Given the description of an element on the screen output the (x, y) to click on. 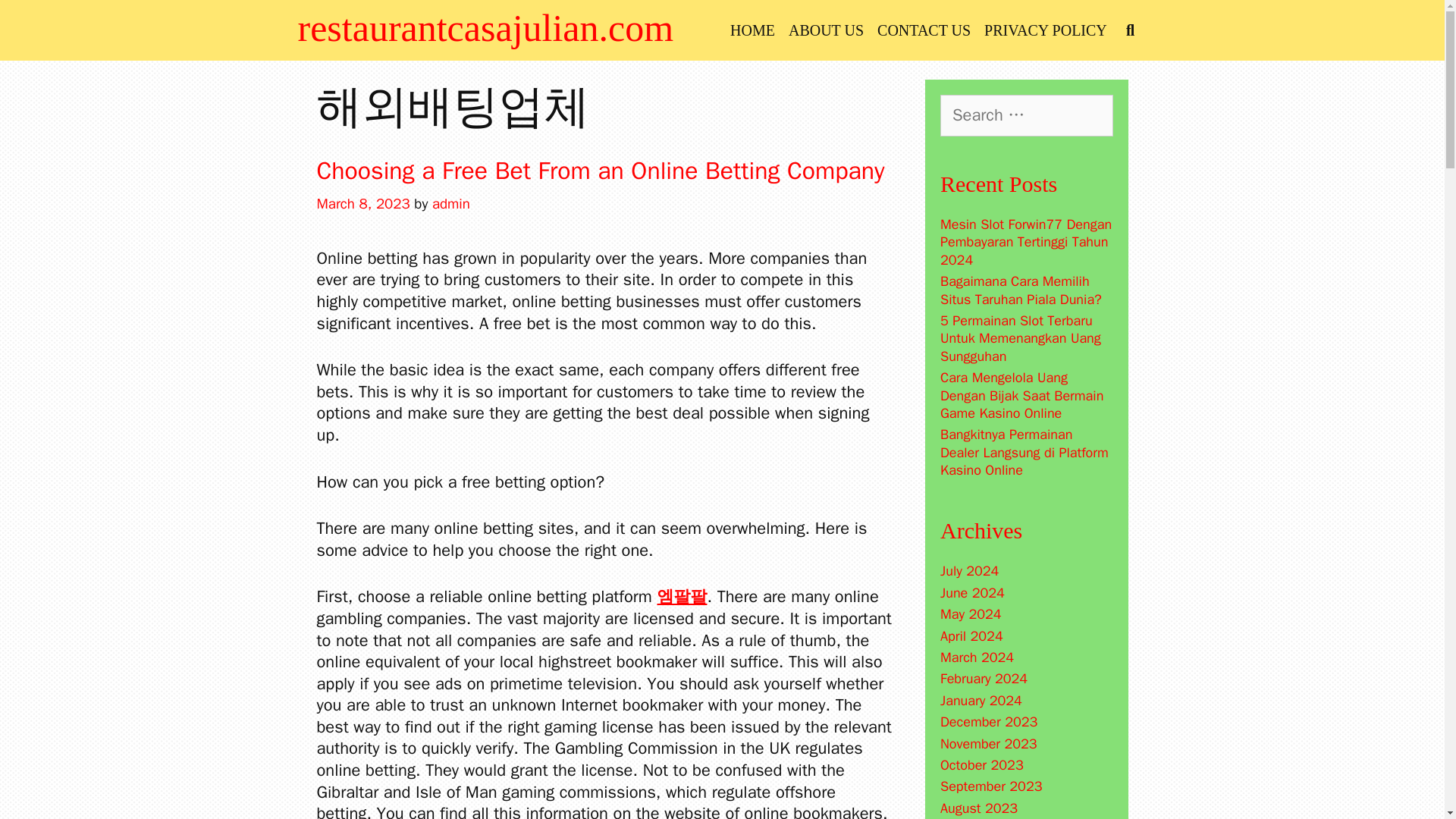
Search (211, 26)
HOME (752, 30)
April 2024 (971, 636)
Mesin Slot Forwin77 Dengan Pembayaran Tertinggi Tahun 2024 (1026, 242)
March 8, 2023 (363, 203)
admin (451, 203)
July 2024 (969, 570)
Choosing a Free Bet From an Online Betting Company (601, 170)
June 2024 (972, 592)
February 2024 (983, 678)
